Given the description of an element on the screen output the (x, y) to click on. 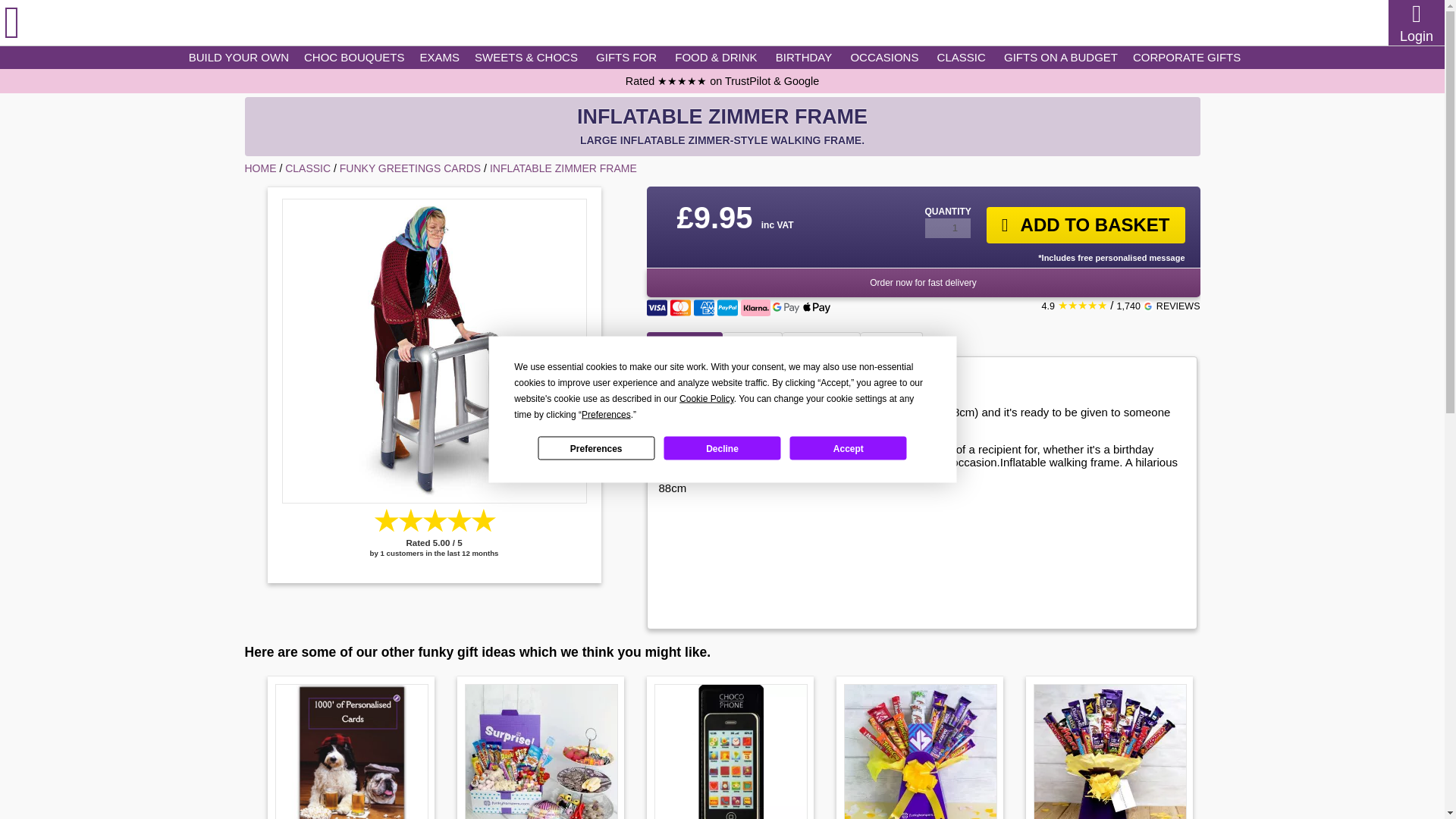
Inflatable Zimmer Frame (434, 351)
GIFTS FOR (625, 56)
EXAMS (439, 56)
Decline (721, 448)
1 (947, 228)
CHOC BOUQUETS (354, 56)
BUILD YOUR OWN (238, 56)
Login (1415, 36)
Accept (848, 448)
